Given the description of an element on the screen output the (x, y) to click on. 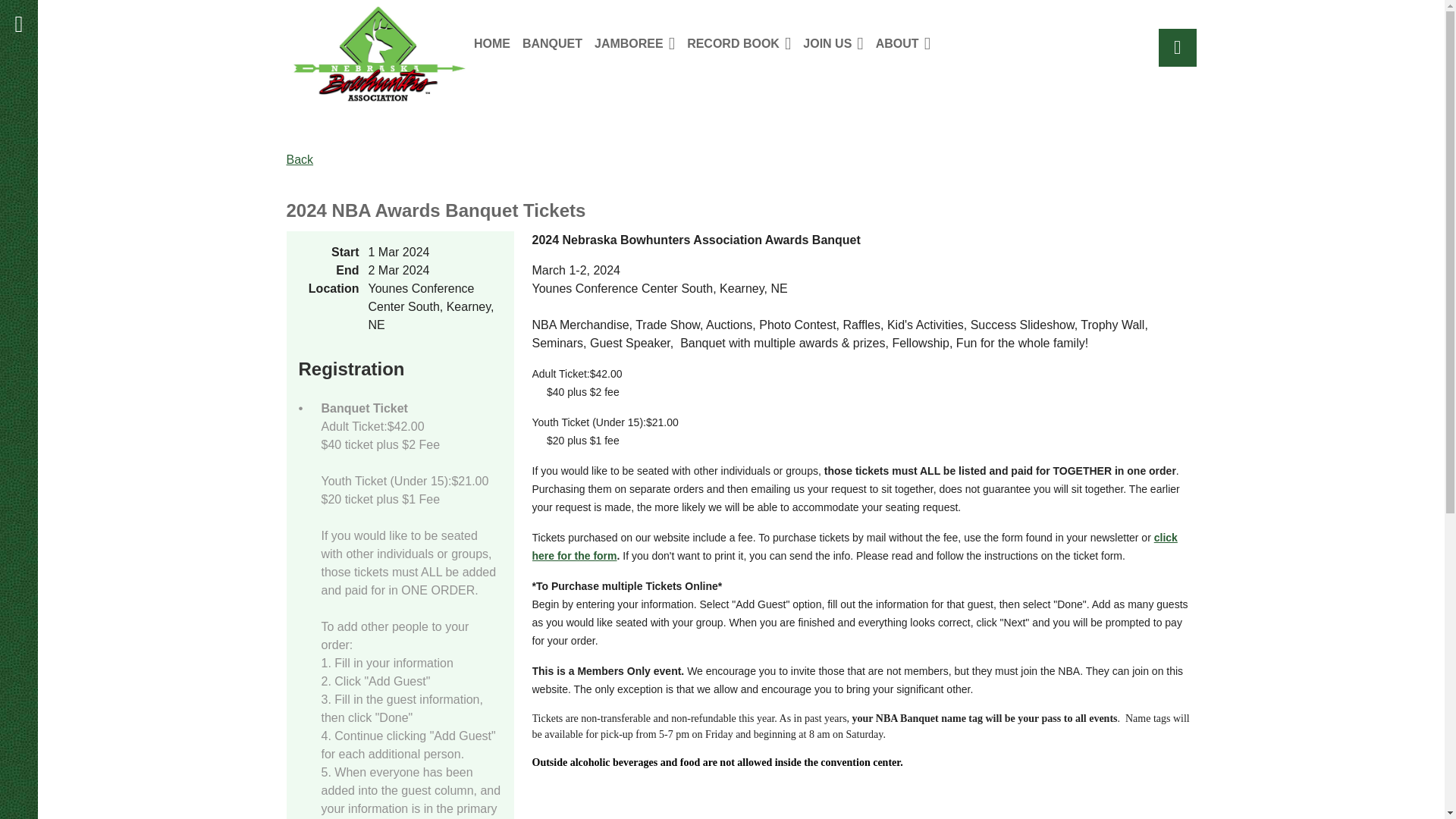
HOME (498, 43)
JAMBOREE (640, 43)
BANQUET (558, 43)
RECORD BOOK (745, 43)
